Given the description of an element on the screen output the (x, y) to click on. 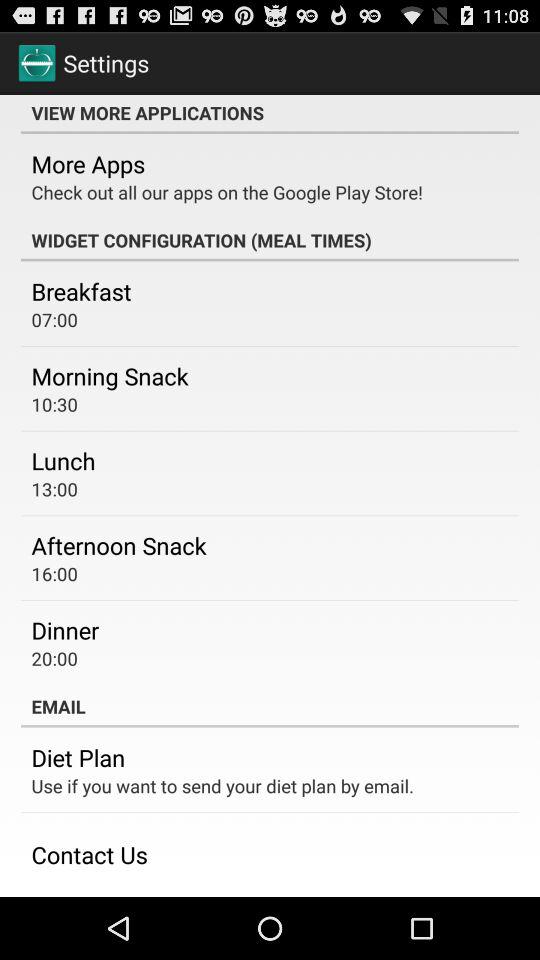
select the item above the more apps item (270, 113)
